Given the description of an element on the screen output the (x, y) to click on. 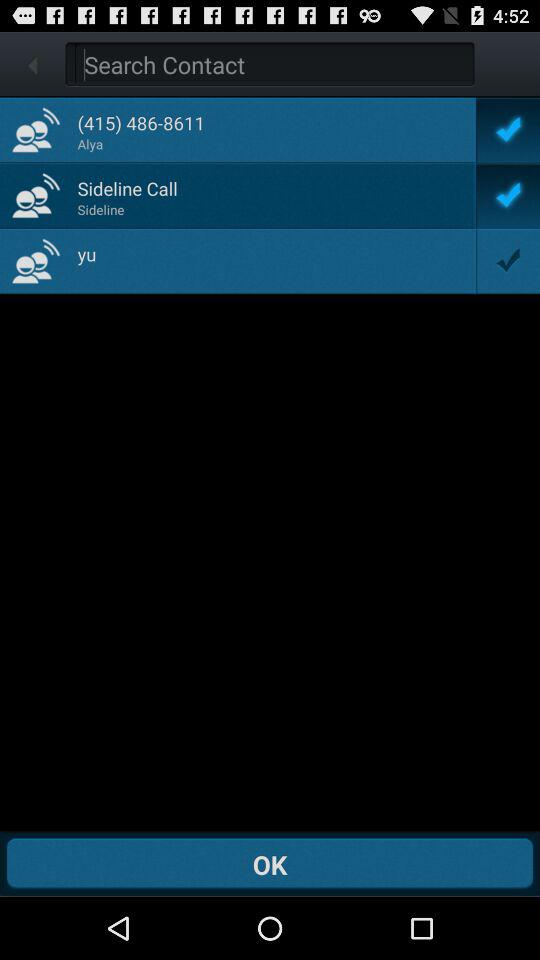
exit out of search contact menu (32, 64)
